Given the description of an element on the screen output the (x, y) to click on. 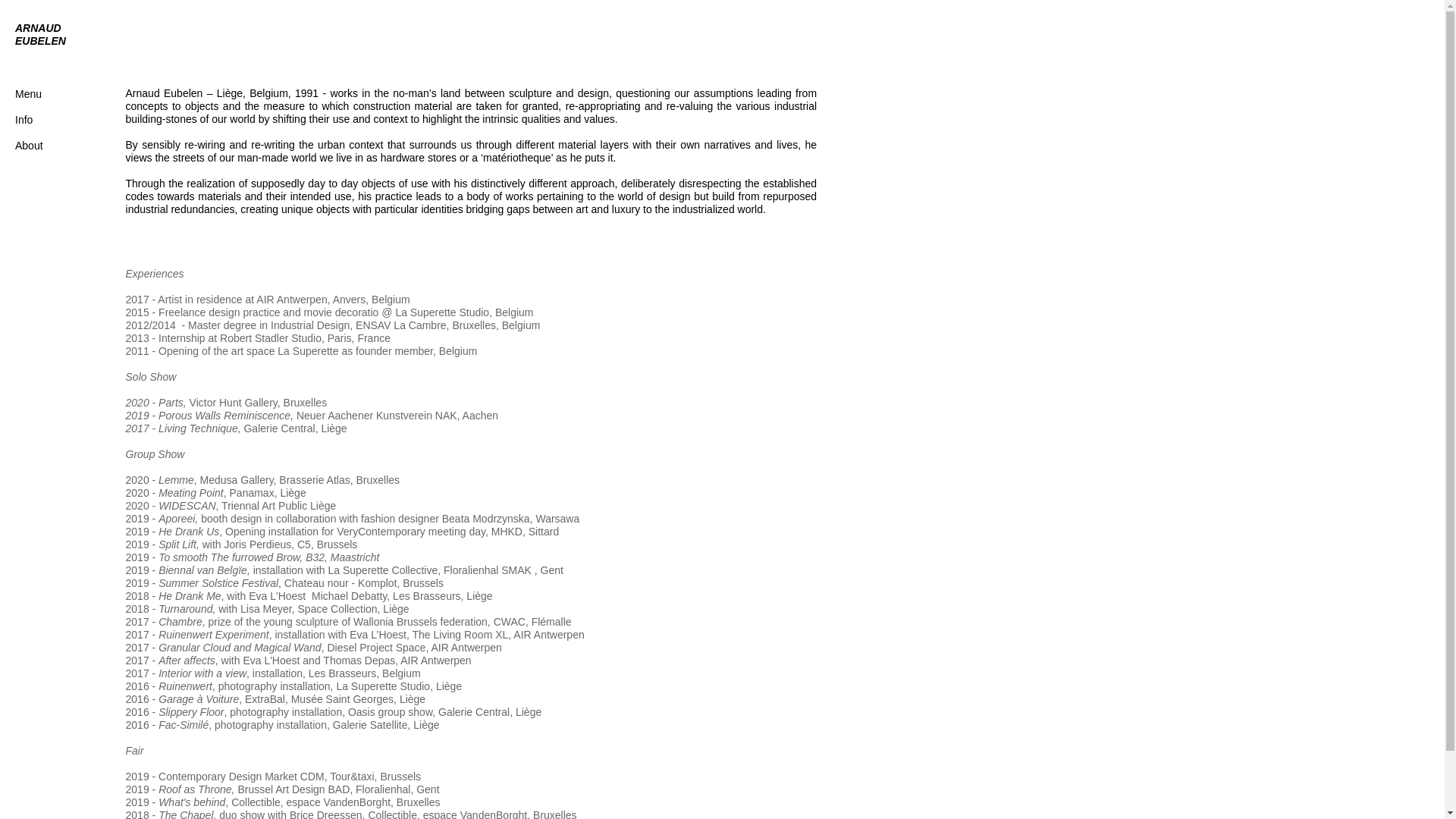
Info Element type: text (23, 119)
La Superette Studio Element type: text (442, 312)
About Element type: text (29, 145)
Galerie Satellite Element type: text (369, 724)
AIR Antwerpen Element type: text (548, 634)
Robert Stadler Studio Element type: text (270, 338)
Les Brasseurs Element type: text (342, 673)
AIR Antwerpen Element type: text (465, 647)
Galerie Central Element type: text (278, 428)
CWAC Element type: text (509, 621)
EUBELEN Element type: text (40, 40)
AIR Antwerpen Element type: text (435, 660)
AIR Antwerpen Element type: text (291, 299)
Galerie Central Element type: text (473, 712)
Menu Element type: text (44, 100)
ARNAUD Element type: text (38, 27)
